Given the description of an element on the screen output the (x, y) to click on. 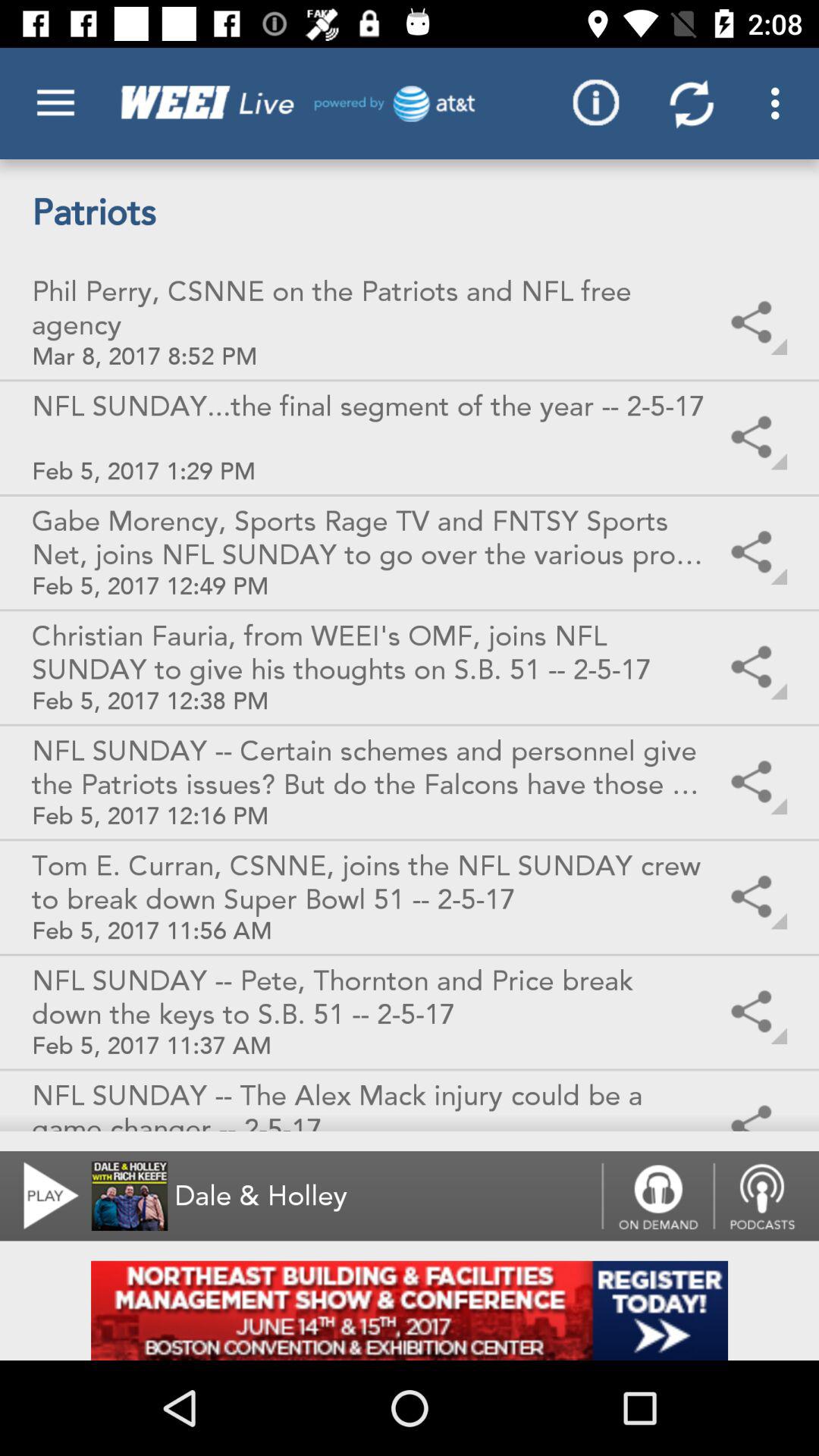
register today (409, 1310)
